Given the description of an element on the screen output the (x, y) to click on. 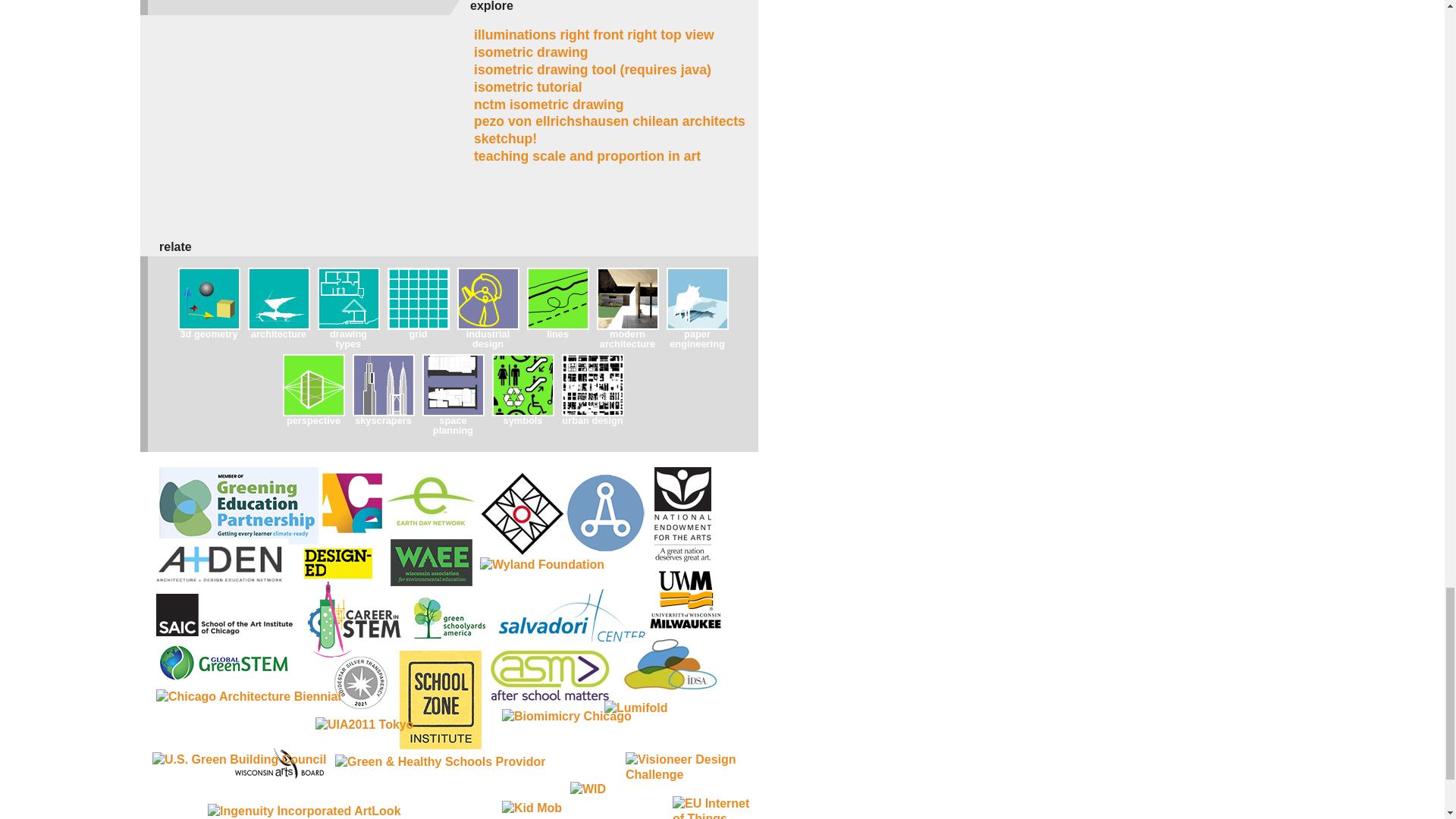
ADEN (219, 561)
AIAs UWM (602, 513)
UNESCO Greening Education Partner (238, 505)
ACE Mentor Program (351, 503)
NOMAS (520, 515)
DESIGN-ED (338, 562)
Earth Day Educators Network (430, 502)
Wisconsin Environmental Education Foundation (430, 562)
